Given the description of an element on the screen output the (x, y) to click on. 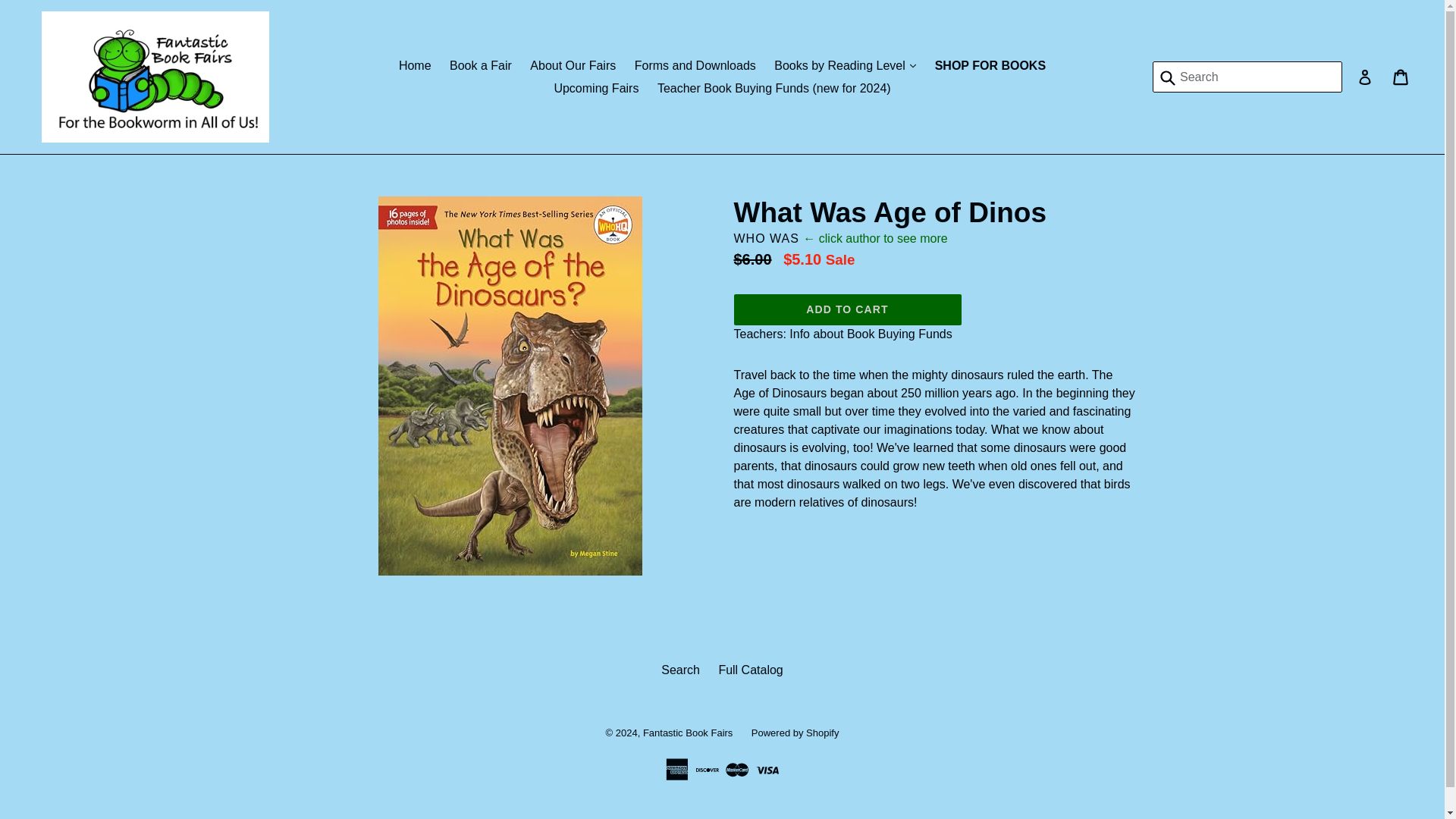
Forms and Downloads (694, 65)
SHOP FOR BOOKS (989, 65)
Home (415, 65)
About Our Fairs (572, 65)
Who Was (766, 237)
Upcoming Fairs (596, 87)
Book a Fair (480, 65)
